Given the description of an element on the screen output the (x, y) to click on. 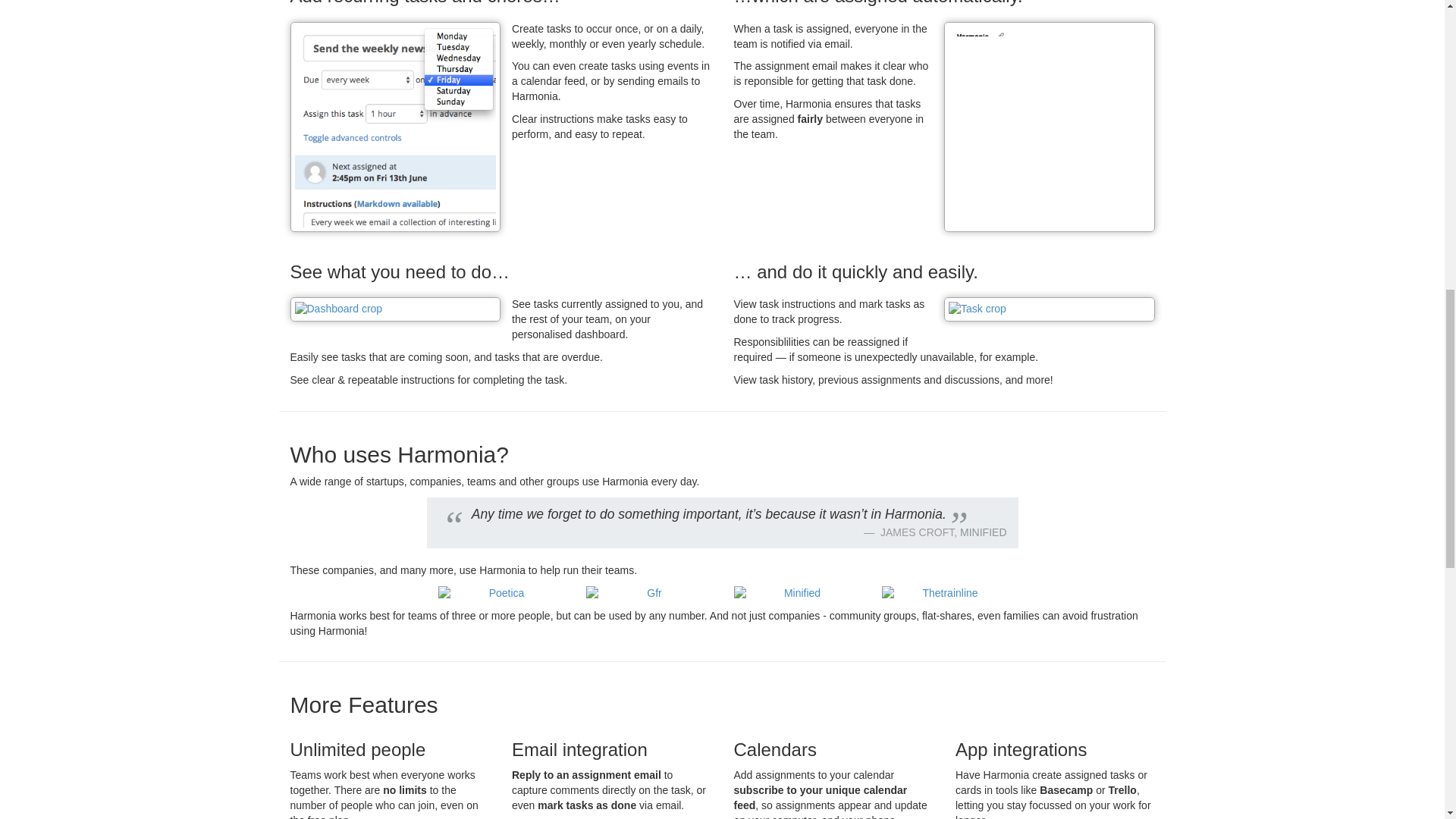
MINIFIED (982, 532)
